Given the description of an element on the screen output the (x, y) to click on. 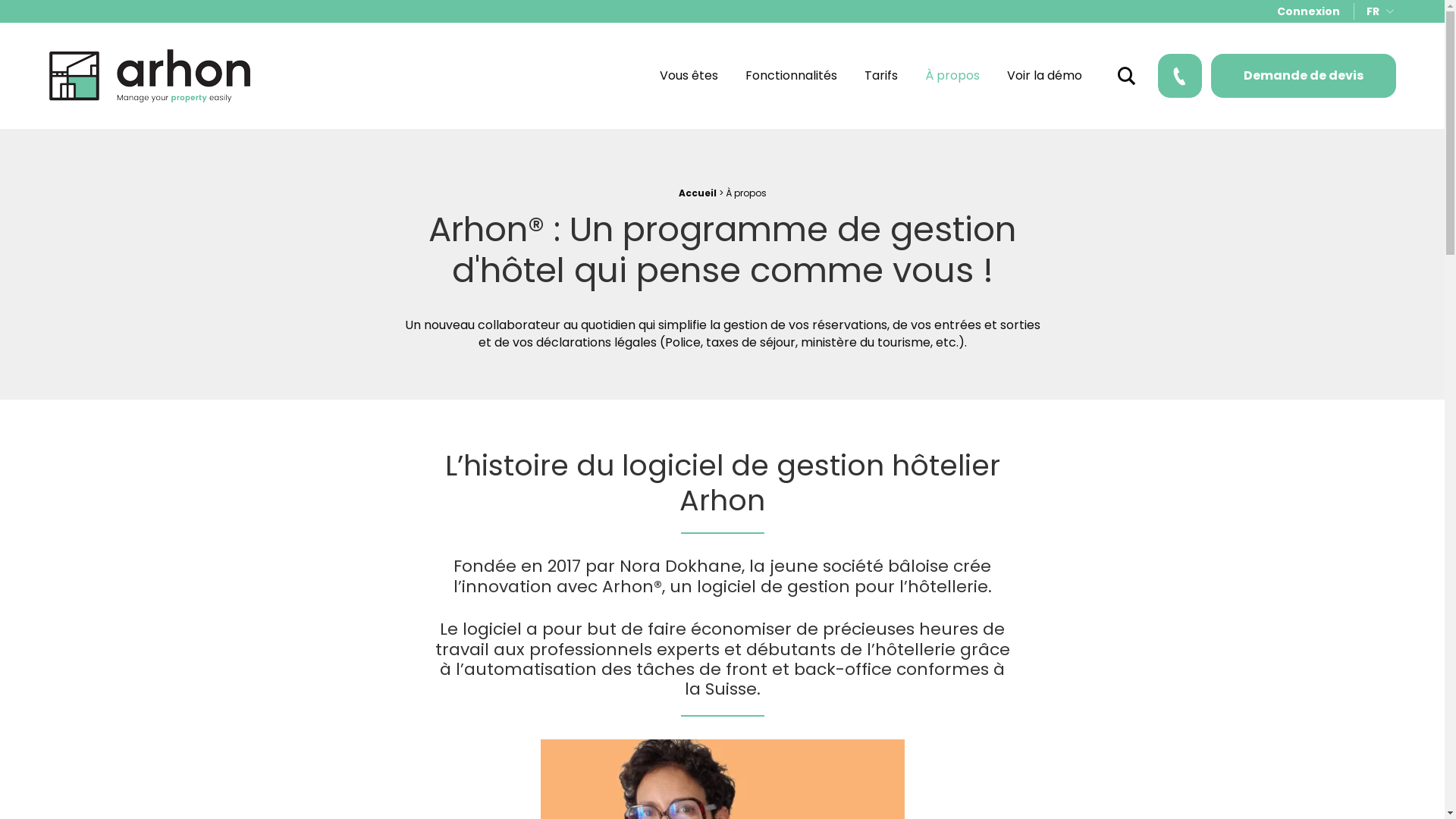
Accueil Element type: text (696, 192)
FR Element type: text (1379, 11)
Arhon Manage your property easily Element type: text (148, 75)
Demande de devis Element type: text (1302, 75)
Tarifs Element type: text (880, 75)
Connexion Element type: text (1308, 11)
